Given the description of an element on the screen output the (x, y) to click on. 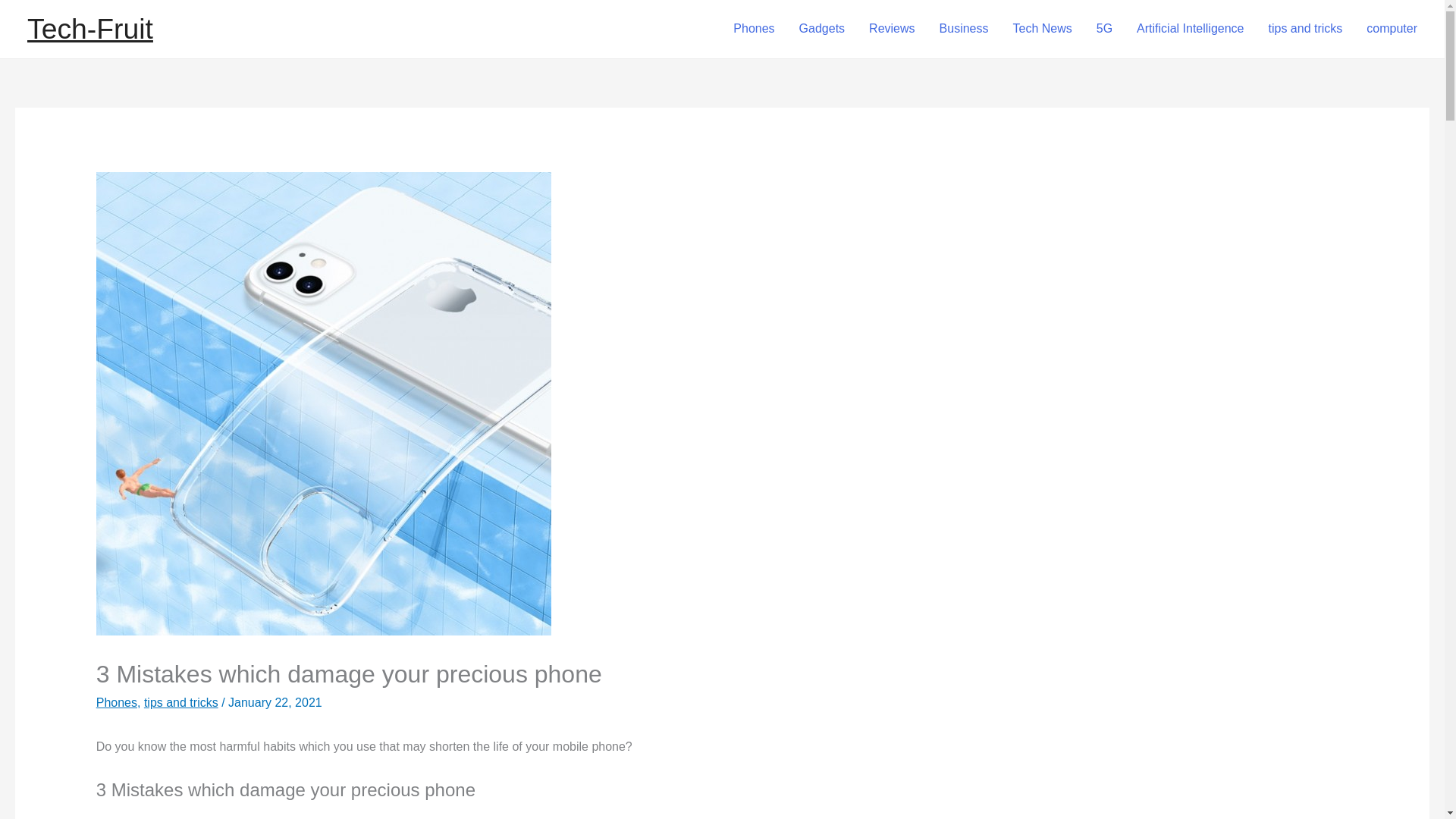
Phones (753, 28)
computer (1391, 28)
Gadgets (822, 28)
Tech-Fruit (89, 29)
5G (1104, 28)
tips and tricks (181, 702)
tips and tricks (1304, 28)
Business (964, 28)
Artificial Intelligence (1189, 28)
Phones (116, 702)
Tech News (1041, 28)
Reviews (891, 28)
